Given the description of an element on the screen output the (x, y) to click on. 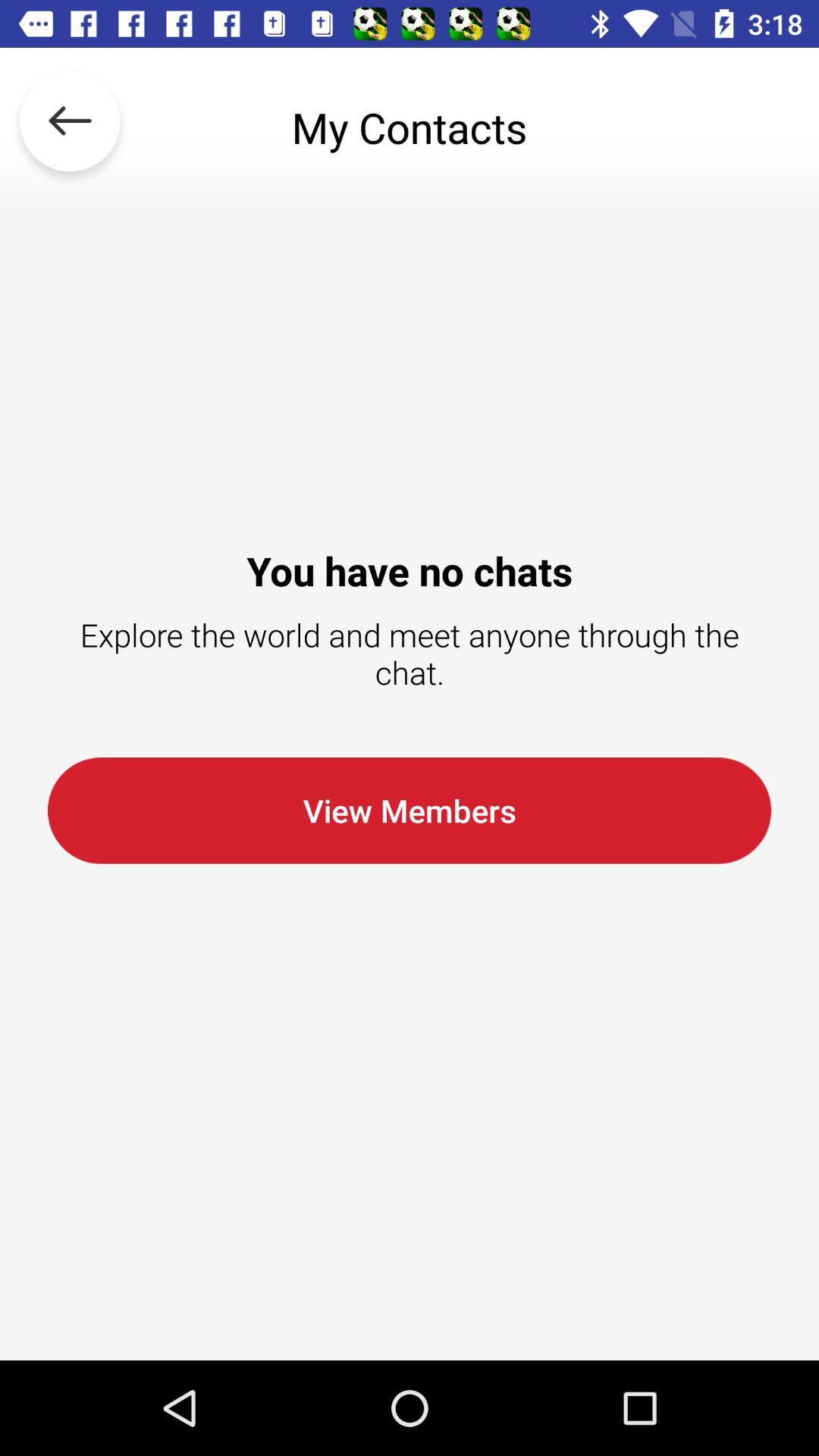
flip to the view members (409, 810)
